Given the description of an element on the screen output the (x, y) to click on. 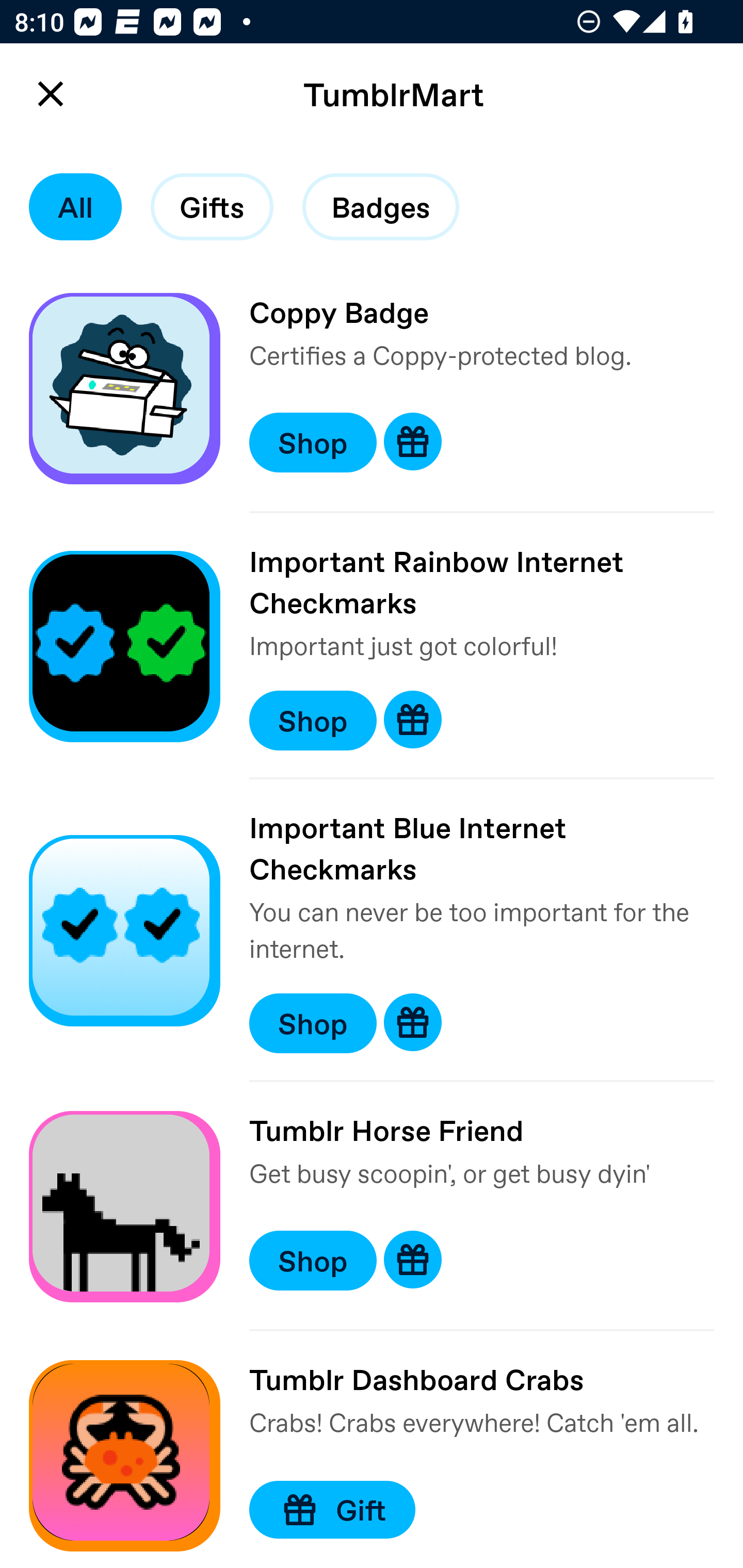
All (74, 206)
Gifts (211, 206)
Badges (380, 206)
Coppy Badge Certifies a Coppy-protected blog. Shop (371, 390)
Shop (312, 441)
Shop (312, 720)
Shop (312, 1023)
Shop (312, 1260)
Gift (331, 1509)
